Given the description of an element on the screen output the (x, y) to click on. 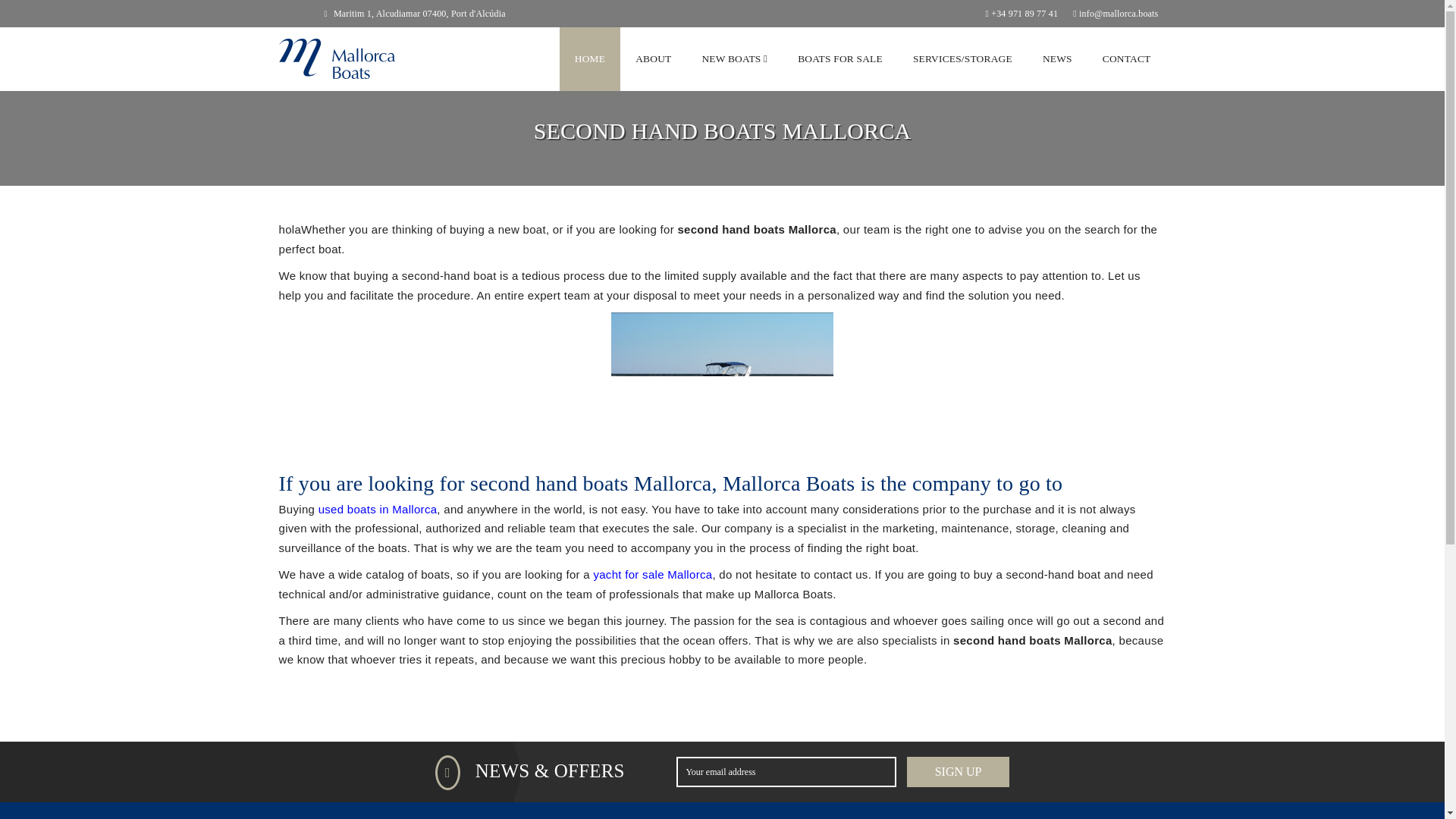
NEWS (1057, 58)
yacht for sale Mallorca (651, 574)
ABOUT (652, 58)
used boats in Mallorca (378, 508)
CONTACT (1126, 58)
HOME (589, 58)
yacht for sale Mallorca (651, 574)
used boats in Mallorca (378, 508)
BOATS FOR SALE (840, 58)
NEW BOATS (734, 58)
